Given the description of an element on the screen output the (x, y) to click on. 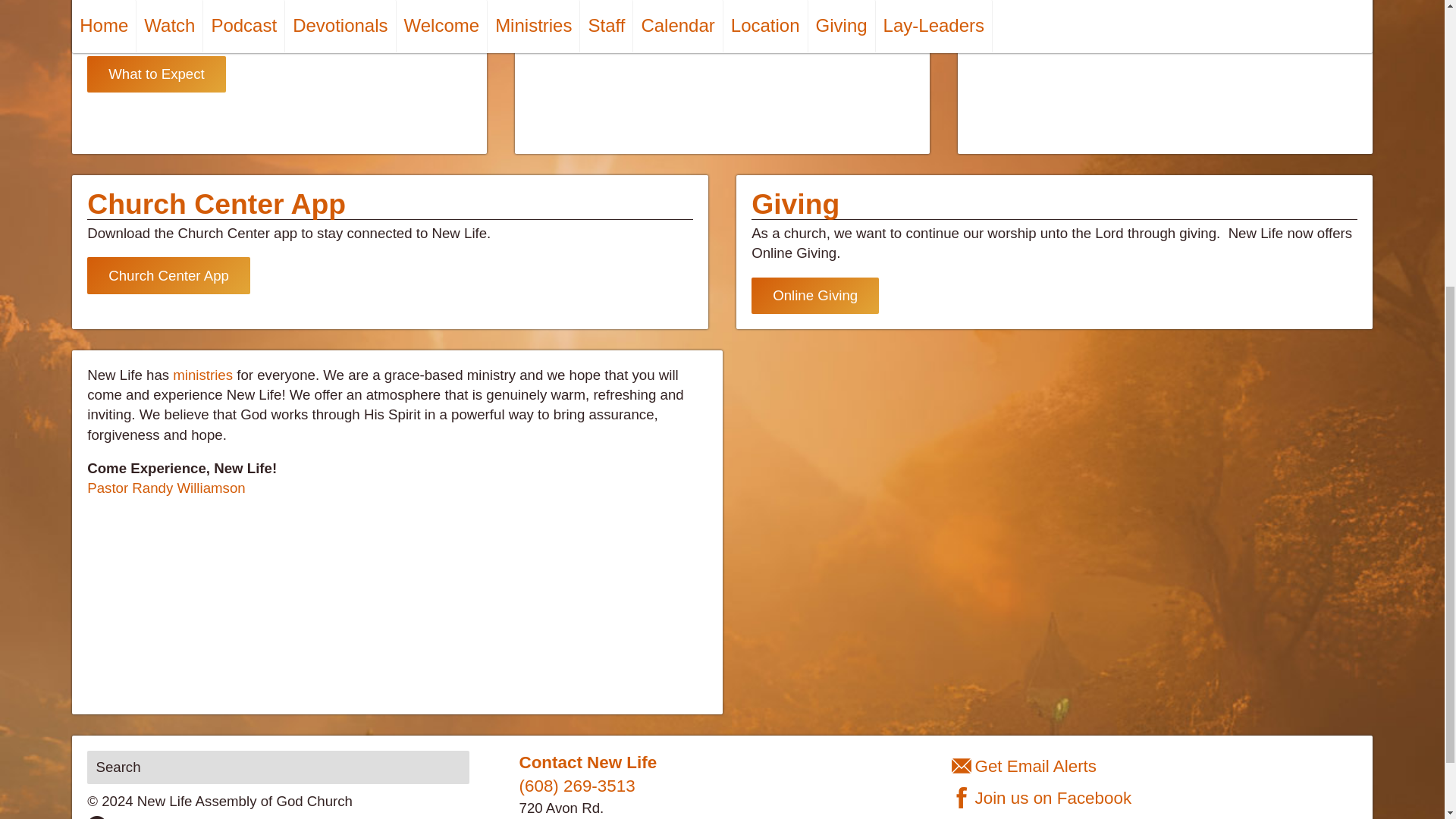
Church Center App (216, 204)
Search (277, 767)
Search (277, 767)
Kids Church (129, 11)
ministries (202, 374)
What to Expect (156, 74)
To the Point - "Trusting in the Lord" (1164, 62)
Giving (795, 204)
Church Center App (168, 275)
Online Giving (815, 295)
Pastor Randy Williamson (165, 487)
